Given the description of an element on the screen output the (x, y) to click on. 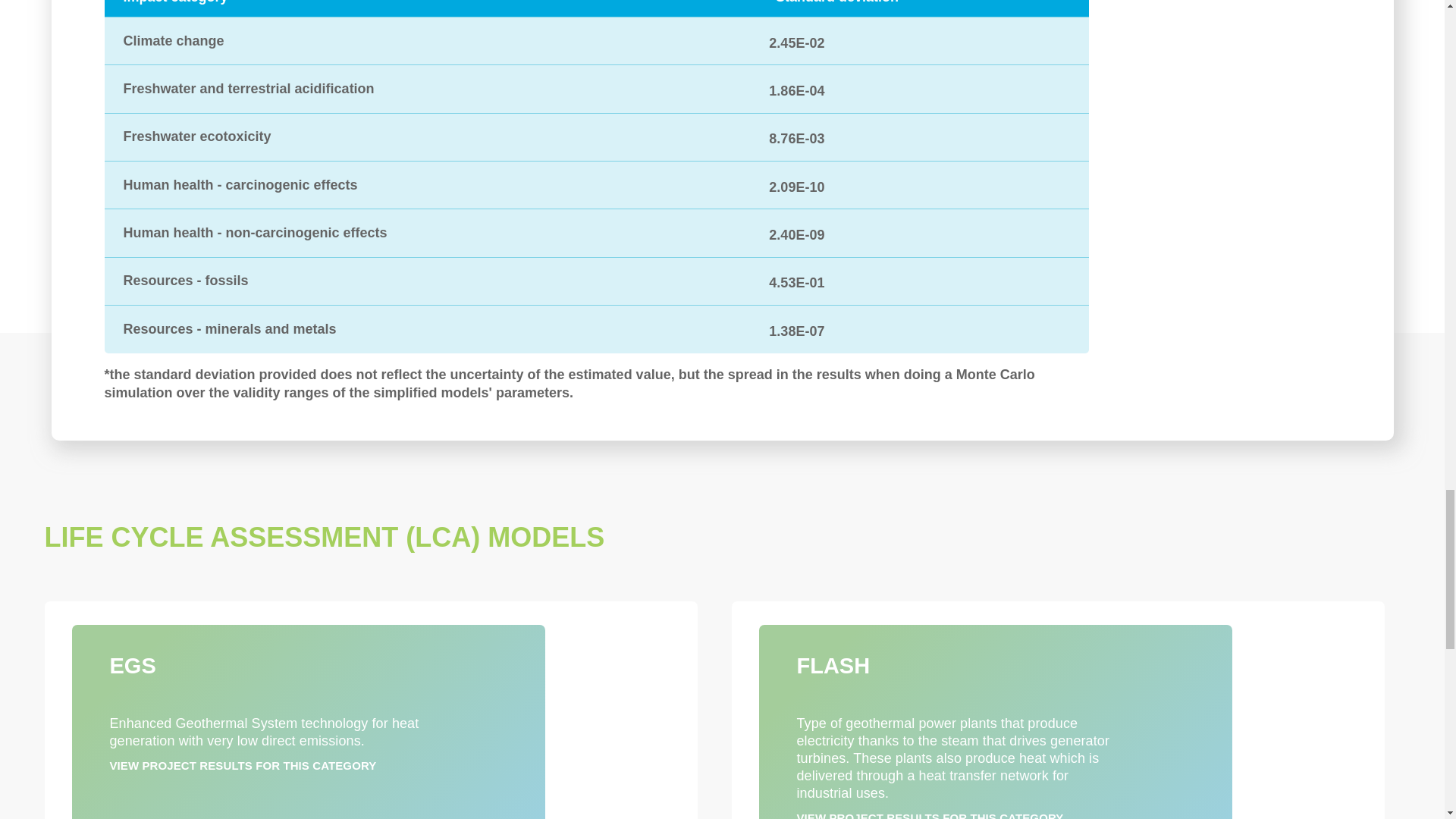
VIEW PROJECT RESULTS FOR THIS CATEGORY (242, 765)
VIEW PROJECT RESULTS FOR THIS CATEGORY (929, 815)
2.45E-02 (797, 40)
